Given the description of an element on the screen output the (x, y) to click on. 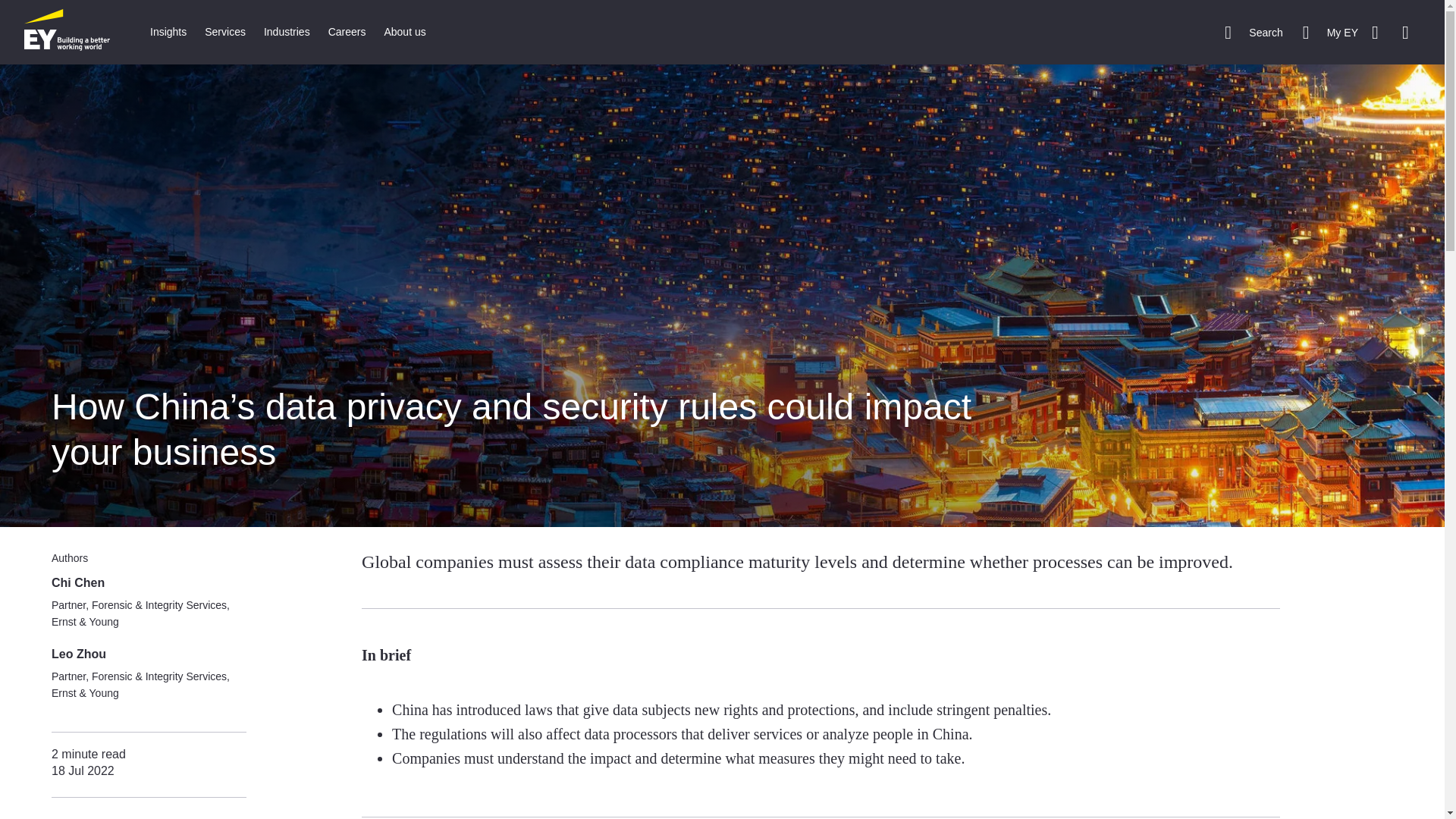
EY Logo (67, 32)
My EY (1329, 32)
Open search (1253, 32)
EY Logo (67, 32)
